Given the description of an element on the screen output the (x, y) to click on. 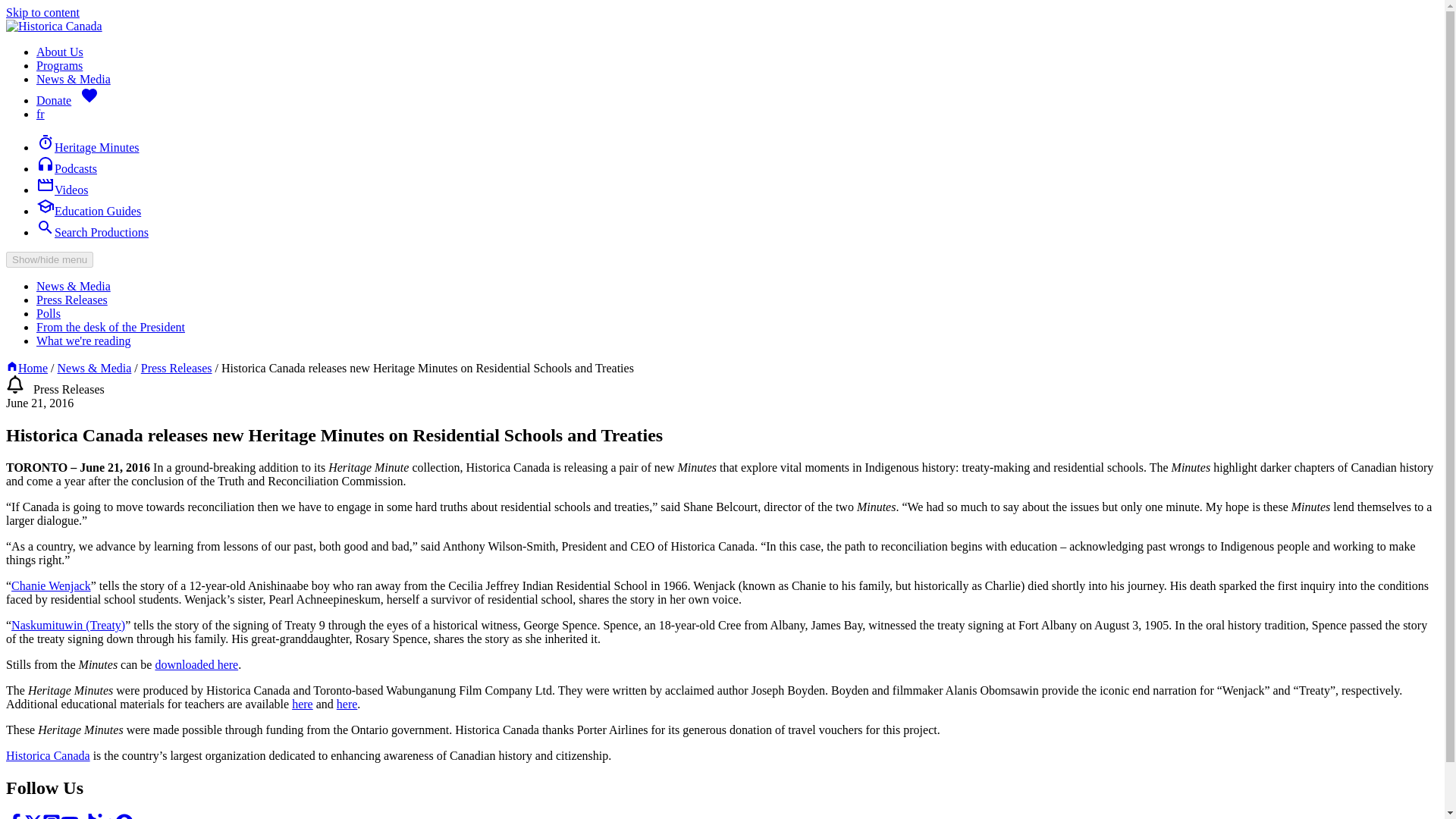
Facebook (14, 816)
Education Guides (88, 210)
YouTube (69, 816)
LinkedIn (106, 816)
Heritage Minutes (87, 146)
Search ProductionsSearch Productions (92, 232)
Snapchat (124, 816)
What we're reading (83, 340)
TikTok (87, 816)
here (347, 703)
Home (11, 367)
Press Releases (71, 299)
X (33, 816)
here (302, 703)
About Us (59, 51)
